Given the description of an element on the screen output the (x, y) to click on. 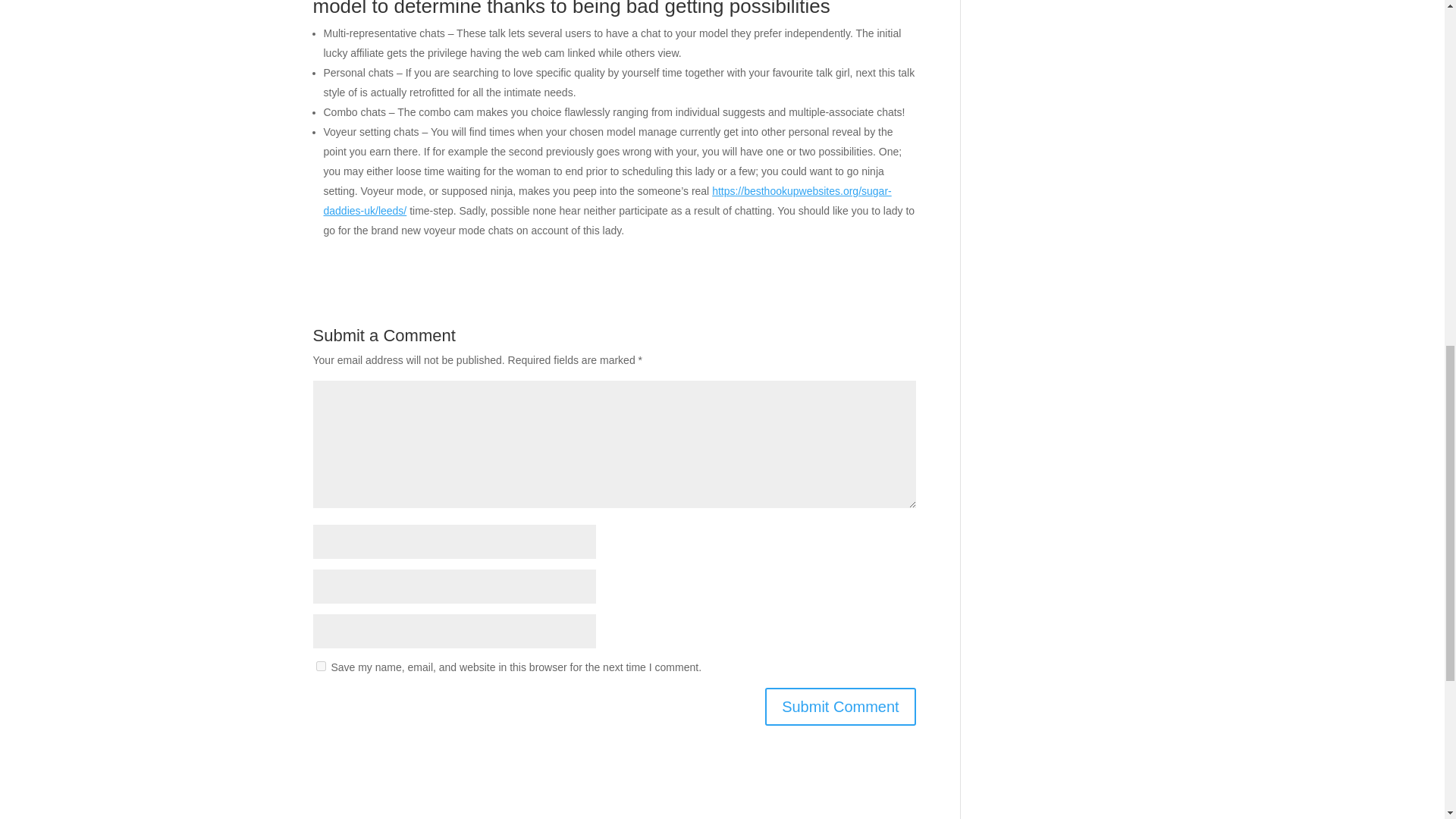
Submit Comment (840, 706)
Submit Comment (840, 706)
yes (319, 665)
